Given the description of an element on the screen output the (x, y) to click on. 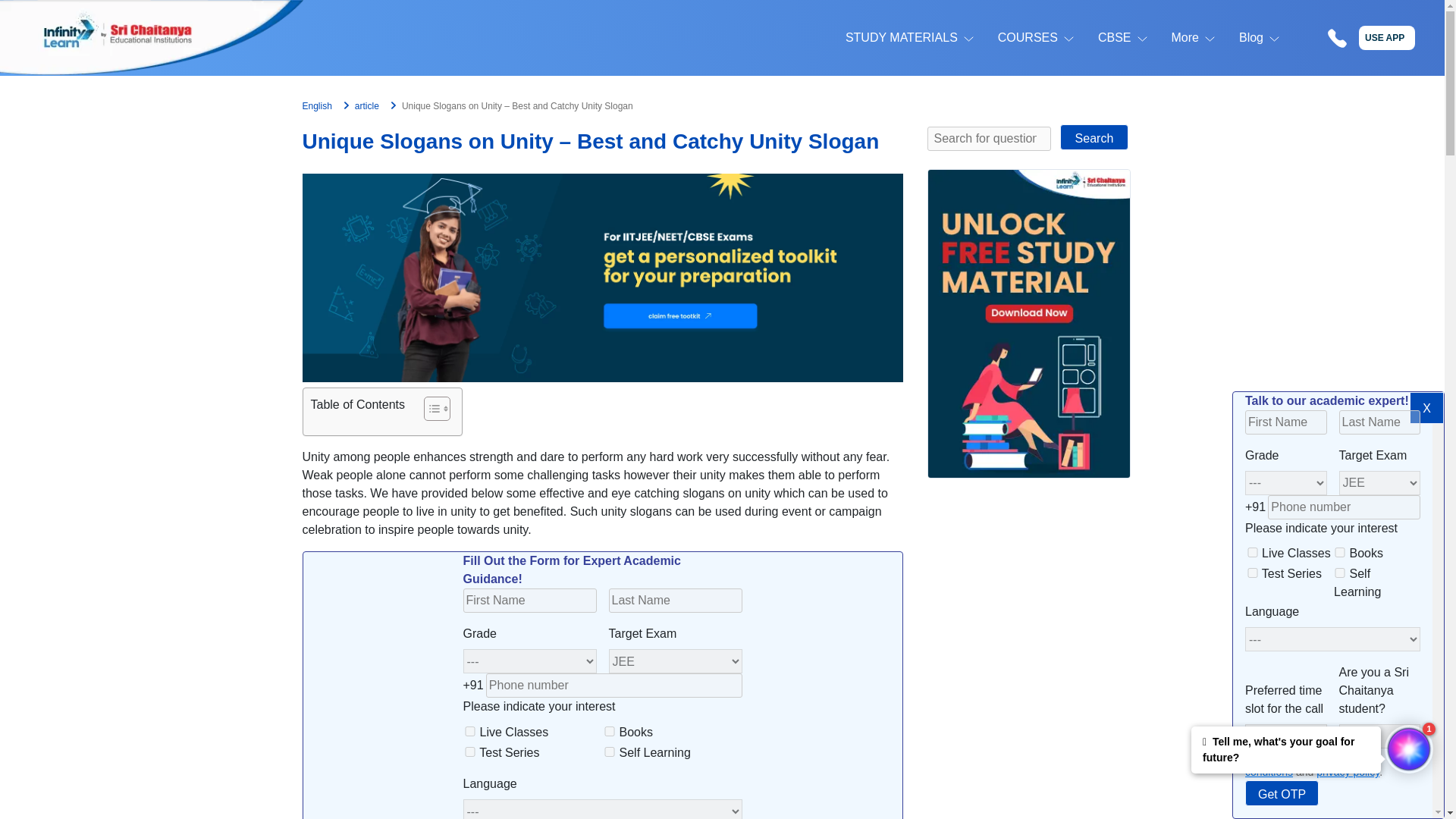
Test Series (470, 751)
Books (1339, 552)
Go to the article category archives. (366, 105)
Go to the English category archives. (316, 105)
Self Learning (1339, 573)
STUDY MATERIALS (901, 37)
Infinity Learn by Sri Chaitanya (151, 38)
Live Classes (470, 731)
Get OTP (1281, 792)
Test Series (1252, 573)
Search (1093, 136)
Self Learning (609, 751)
1 (1250, 755)
Live Classes (1252, 552)
Books (609, 731)
